Given the description of an element on the screen output the (x, y) to click on. 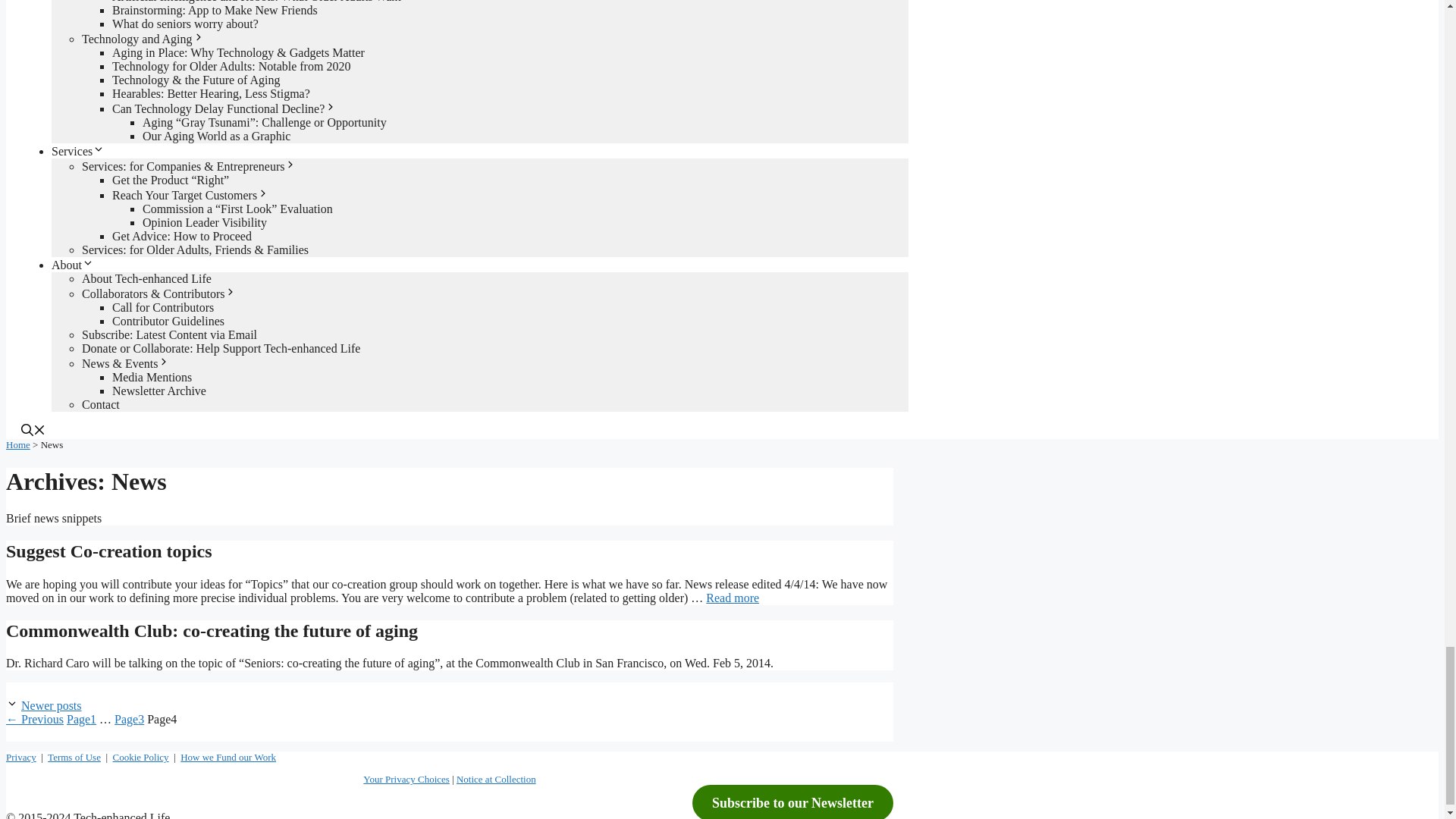
Next (51, 705)
Go to Tech-enhanced Life. (17, 444)
Suggest Co-creation topics (732, 597)
